Given the description of an element on the screen output the (x, y) to click on. 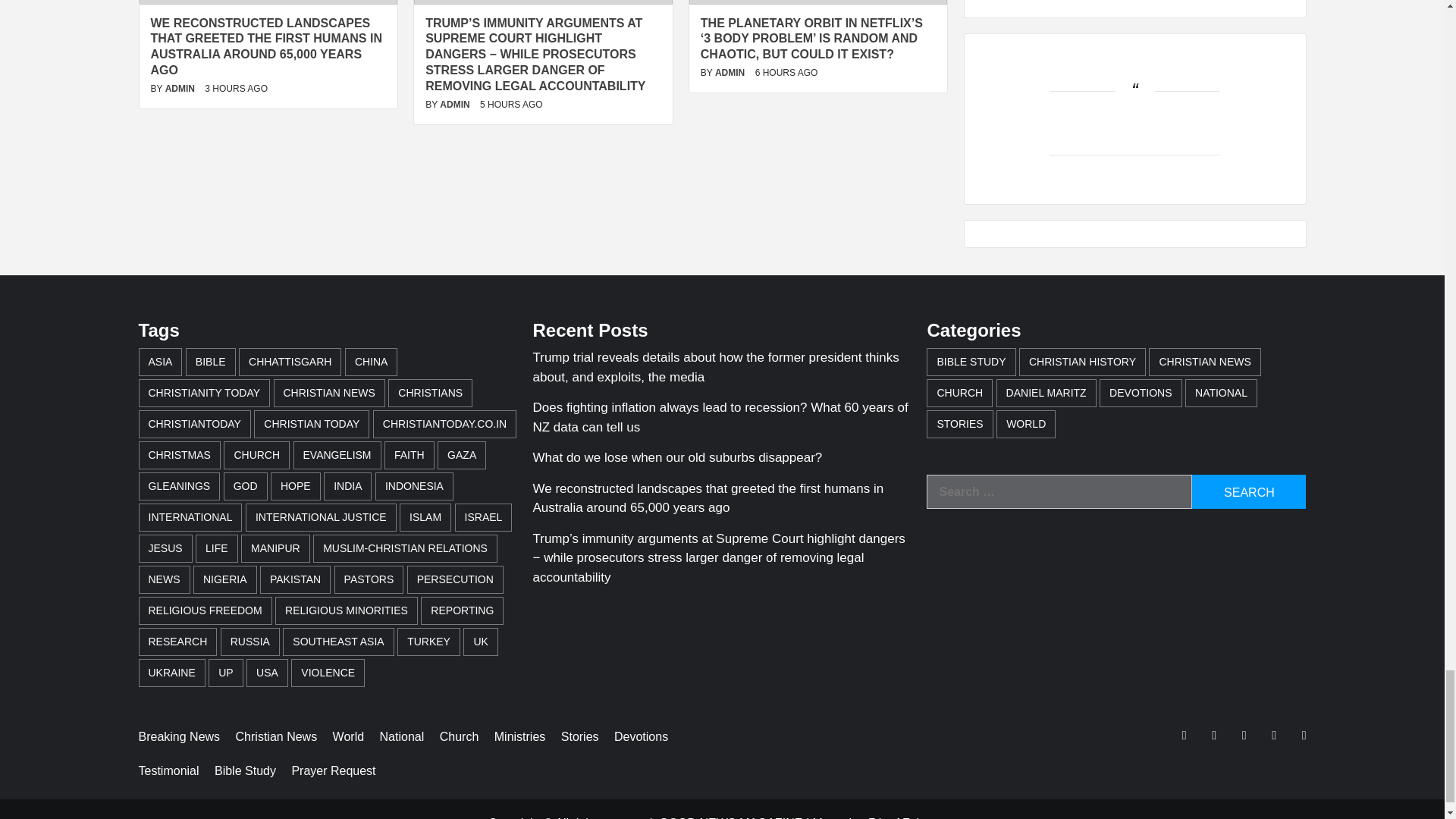
Search (1249, 491)
Search (1249, 491)
